Given the description of an element on the screen output the (x, y) to click on. 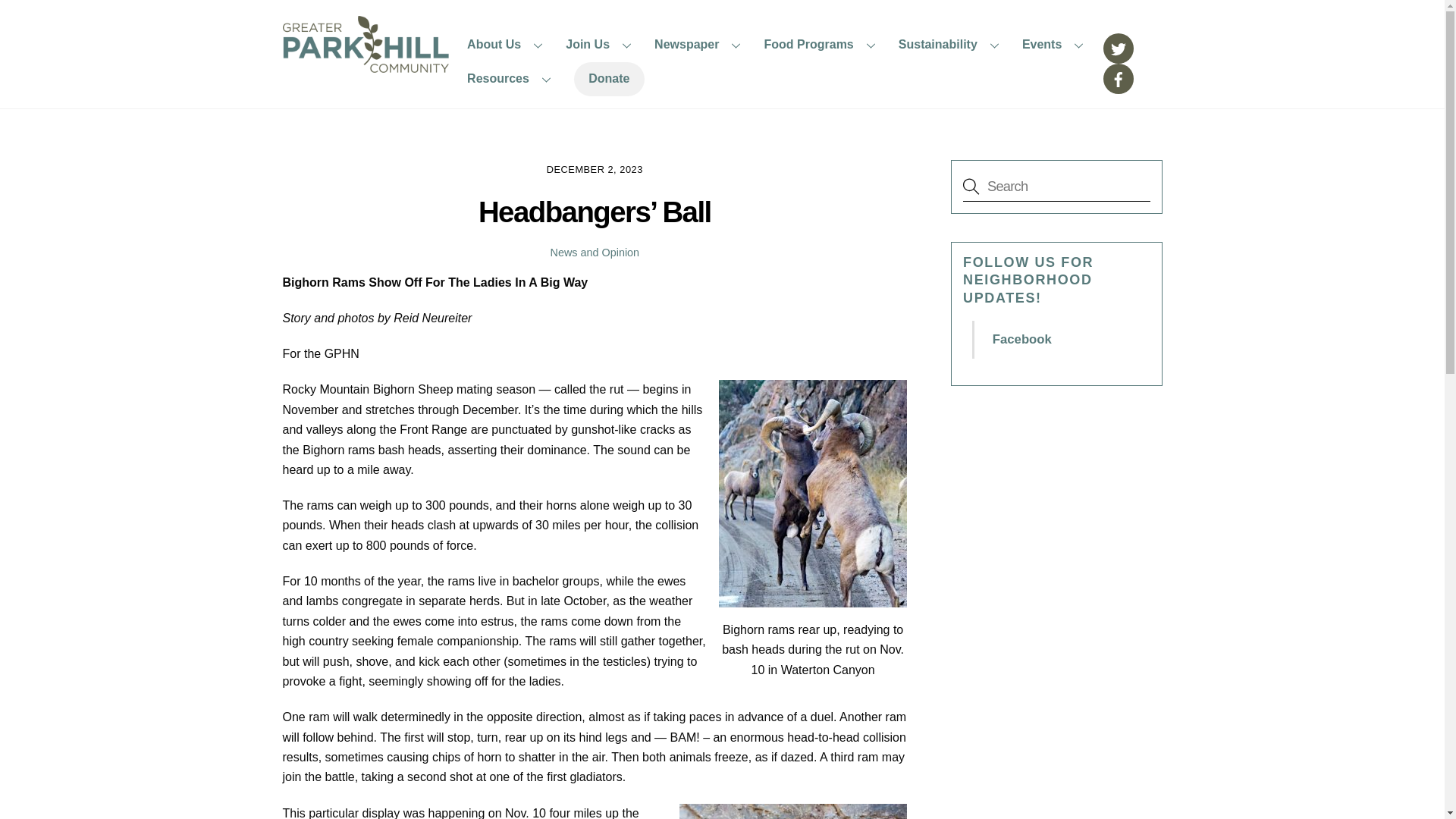
Greater Park Hill Community (365, 65)
Sustainability (951, 44)
About Us (507, 44)
Food Programs (822, 44)
Join Us (601, 44)
Newspaper (700, 44)
Search (1056, 185)
Events (1055, 44)
